Given the description of an element on the screen output the (x, y) to click on. 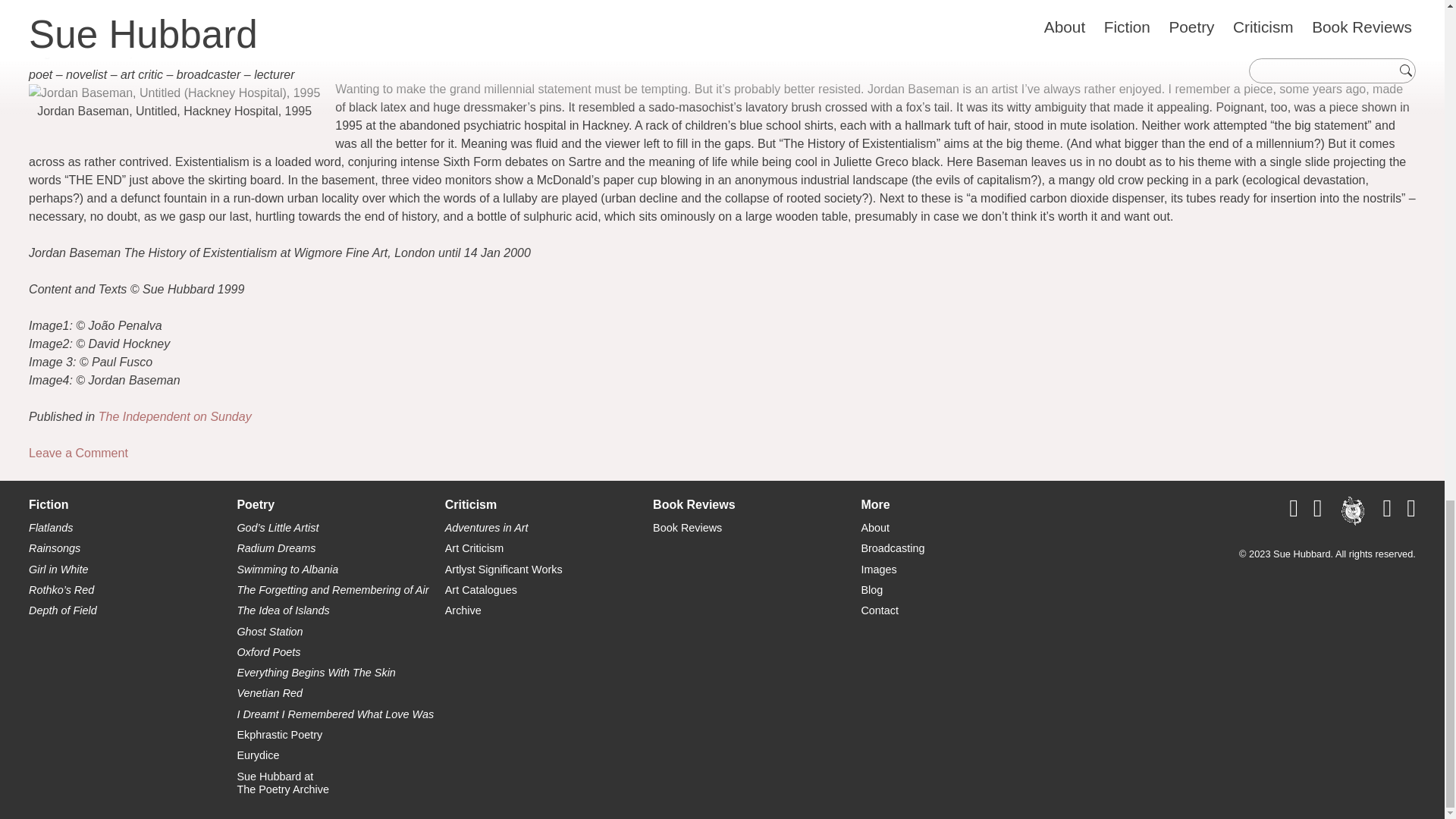
Ekphrastic Poetry (339, 783)
Ghost Station (339, 735)
Radium Dreams (339, 631)
The Forgetting and Remembering of Air (339, 548)
The Idea of Islands (339, 590)
Venetian Red (339, 610)
I Dreamt I Remembered What Love Was (339, 693)
Depth of Field (339, 714)
Girl in White (132, 610)
Poetry (132, 569)
The Independent on Sunday (339, 505)
Everything Begins With The Skin (175, 416)
Eurydice (339, 672)
Adventures in Art (339, 755)
